Given the description of an element on the screen output the (x, y) to click on. 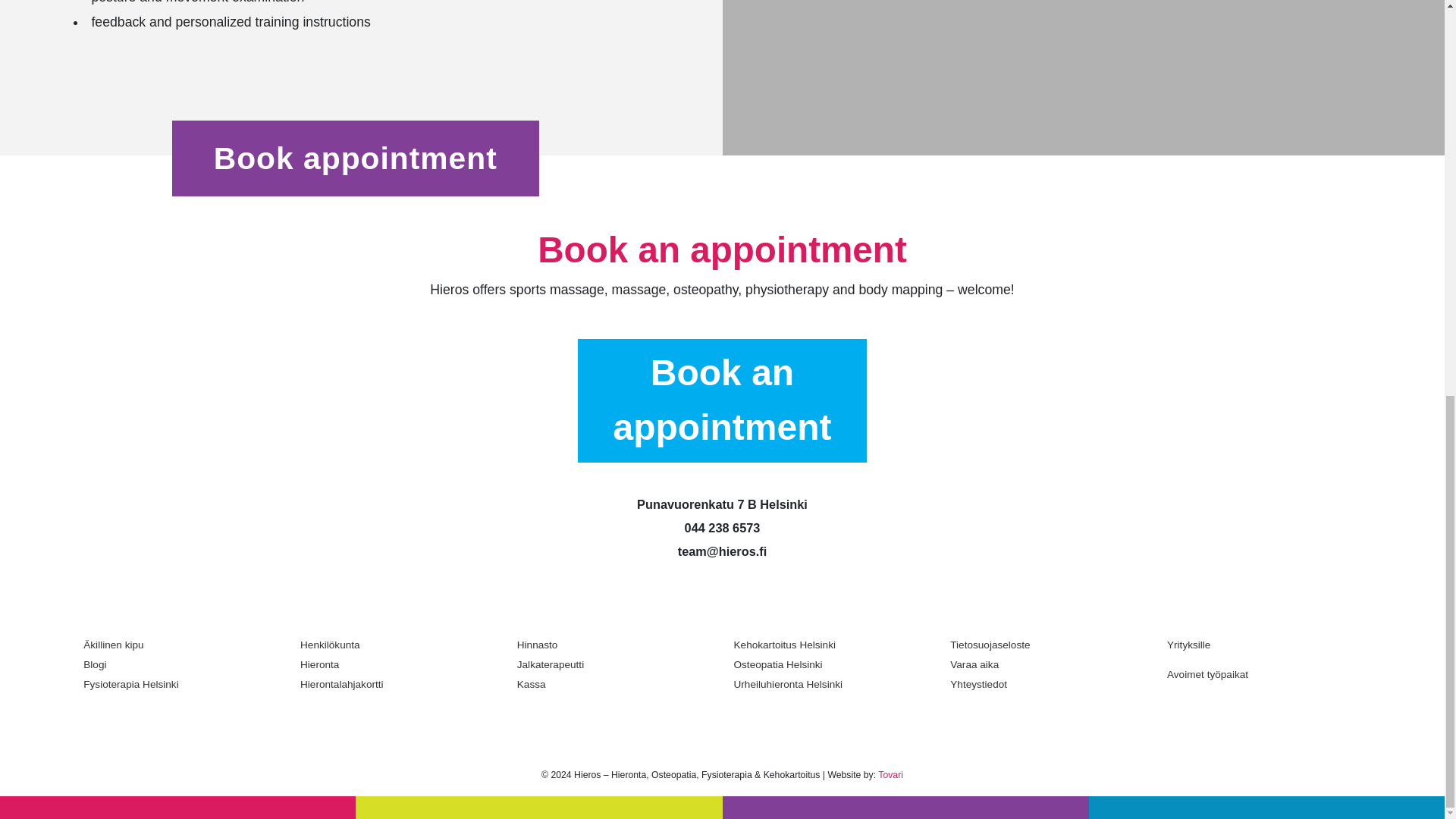
Kassa (613, 684)
Tovari (889, 774)
Jalkaterapeutti (613, 664)
Urheiluhieronta Helsinki (830, 684)
Blogi (180, 664)
Hierontalahjakortti (397, 684)
Yrityksille (1264, 650)
Hinnasto (613, 645)
Tietosuojaseloste (1047, 645)
Hieronta (397, 664)
